Given the description of an element on the screen output the (x, y) to click on. 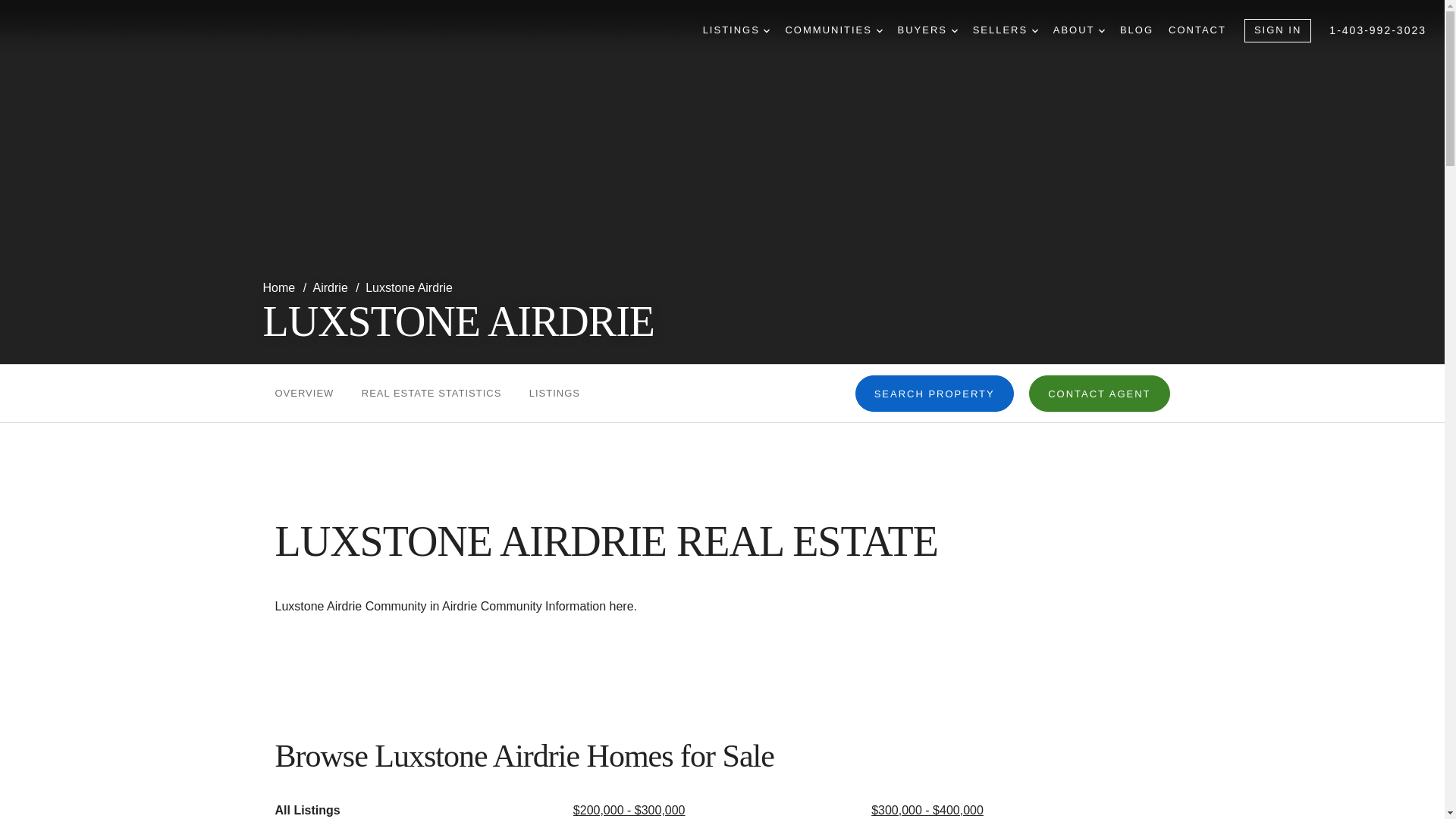
BLOG (1136, 30)
SELLERS DROPDOWN ARROW (1005, 30)
DROPDOWN ARROW (955, 30)
COMMUNITIES DROPDOWN ARROW (833, 30)
DROPDOWN ARROW (766, 30)
DROPDOWN ARROW (879, 30)
CONTACT (1197, 30)
DROPDOWN ARROW (1102, 30)
DROPDOWN ARROW (1035, 30)
BUYERS DROPDOWN ARROW (928, 30)
ABOUT DROPDOWN ARROW (1078, 30)
LISTINGS DROPDOWN ARROW (736, 30)
